Given the description of an element on the screen output the (x, y) to click on. 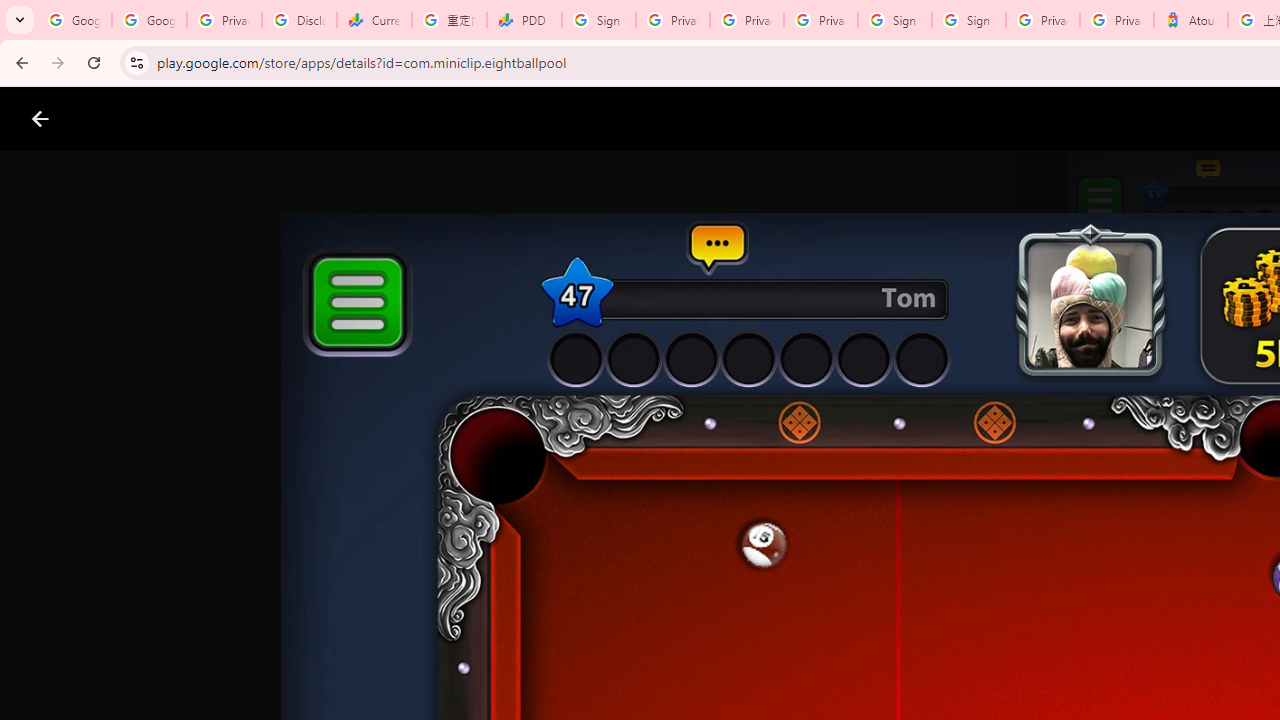
Content rating (973, 656)
PDD Holdings Inc - ADR (PDD) Price & News - Google Finance (523, 20)
Atour Hotel - Google hotels (1190, 20)
Privacy Checkup (820, 20)
Sign in - Google Accounts (968, 20)
More info about this content rating (1013, 678)
Miniclip.com (680, 586)
Close screenshot viewer (39, 119)
Google Play logo (111, 119)
